Given the description of an element on the screen output the (x, y) to click on. 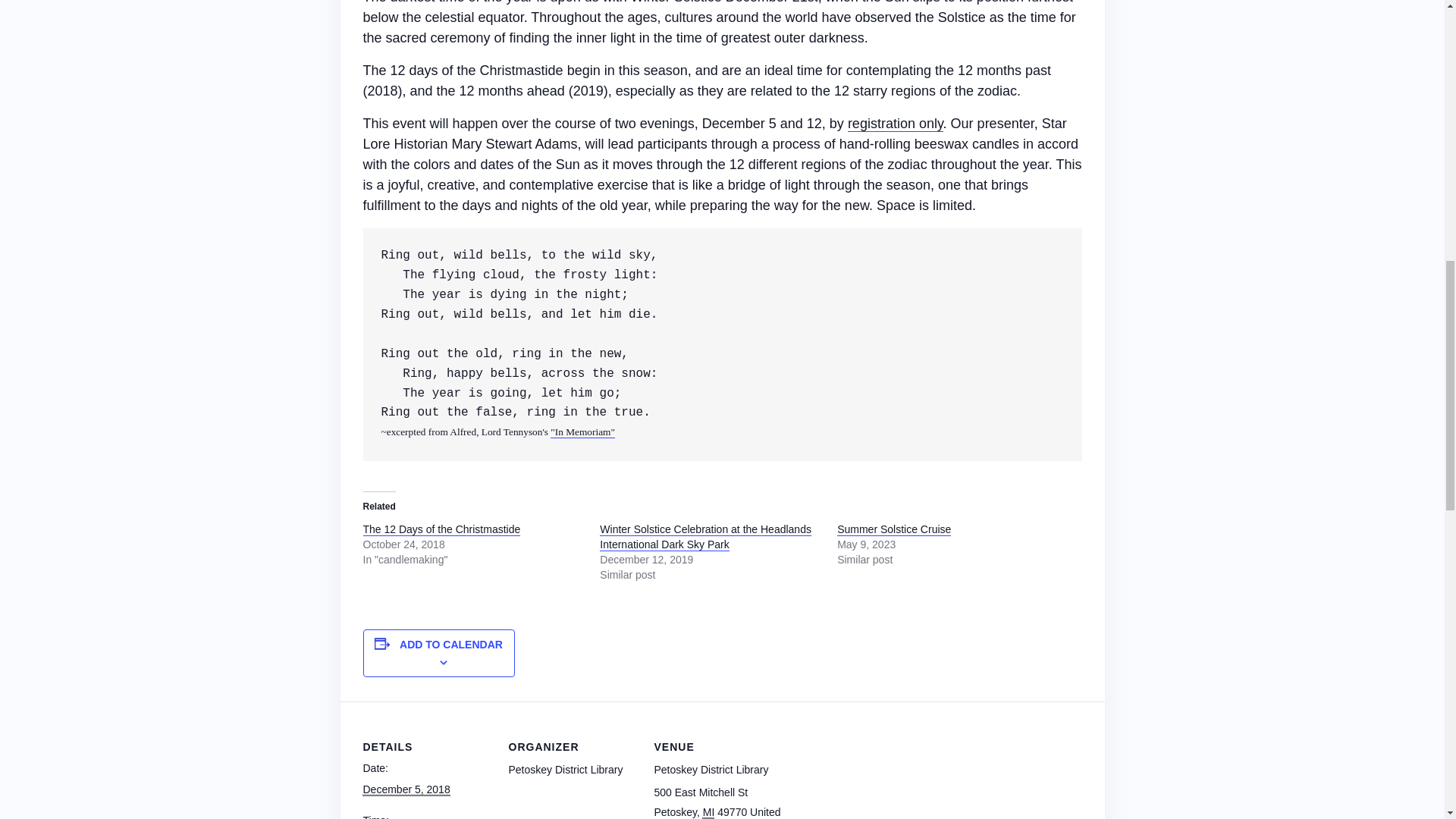
Michigan (708, 812)
2018-12-05 (405, 789)
The 12 Days of the Christmastide (440, 529)
The 12 Days of the Christmastide (440, 529)
ADD TO CALENDAR (450, 644)
"In Memoriam" (582, 431)
Summer Solstice Cruise (893, 529)
Summer Solstice Cruise (893, 529)
registration only (895, 123)
